Given the description of an element on the screen output the (x, y) to click on. 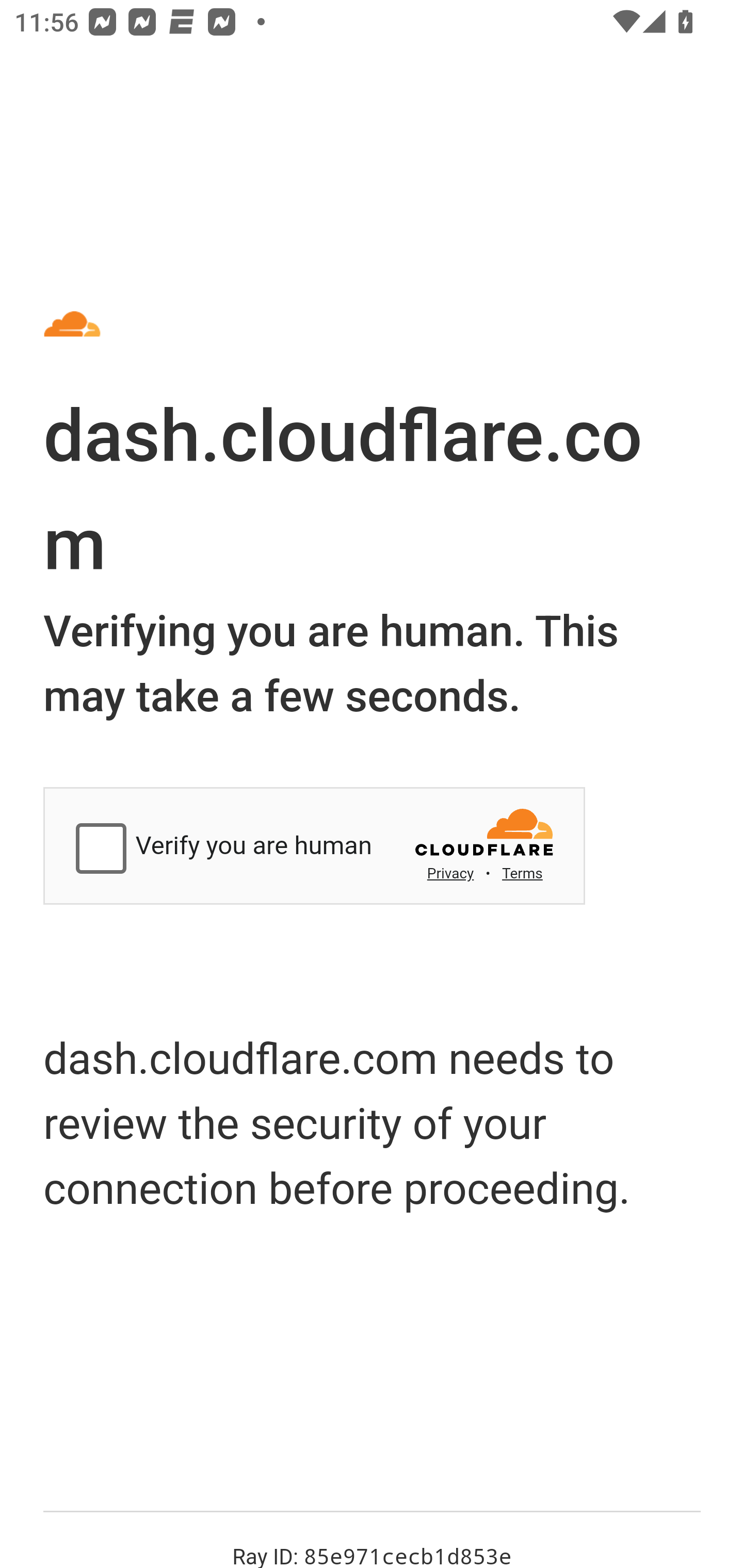
Cloudflare (485, 838)
Verify you are human (104, 849)
Privacy (450, 873)
Terms (522, 873)
